Given the description of an element on the screen output the (x, y) to click on. 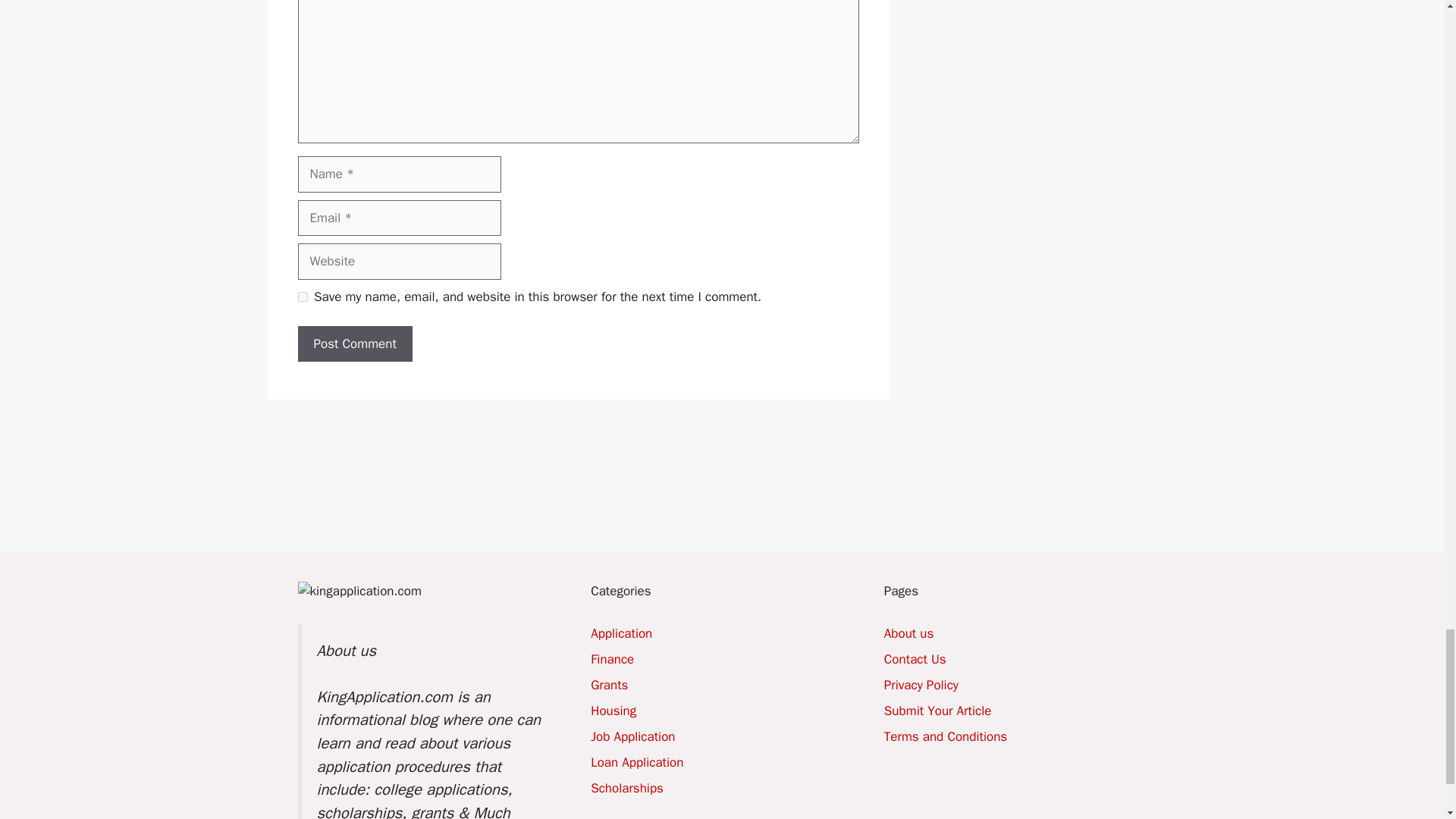
Post Comment (354, 343)
Post Comment (354, 343)
yes (302, 296)
